Given the description of an element on the screen output the (x, y) to click on. 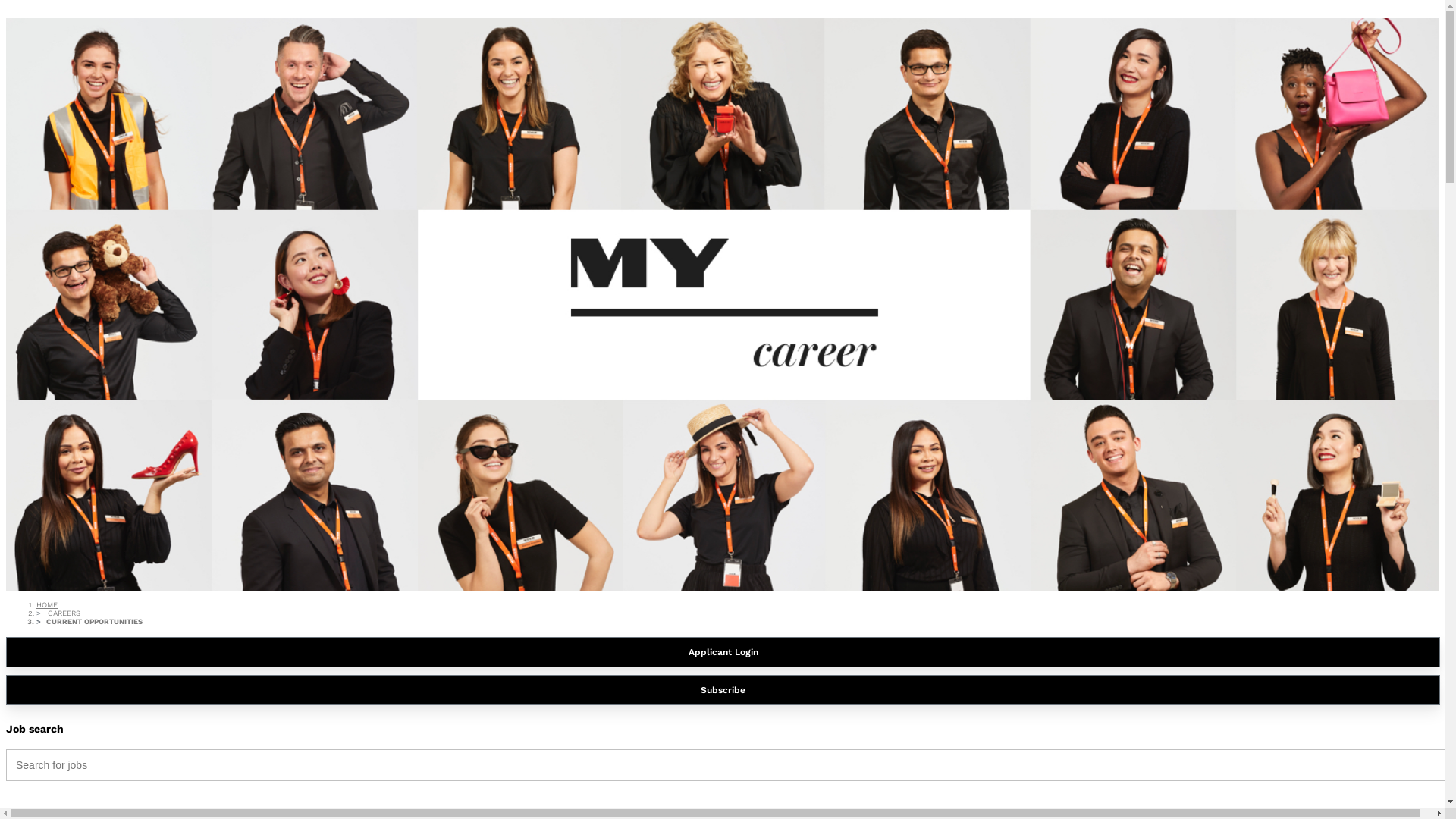
HOME Element type: text (46, 604)
CAREERS Element type: text (63, 612)
Applicant Login Element type: text (723, 652)
Subscribe Element type: text (723, 689)
